Given the description of an element on the screen output the (x, y) to click on. 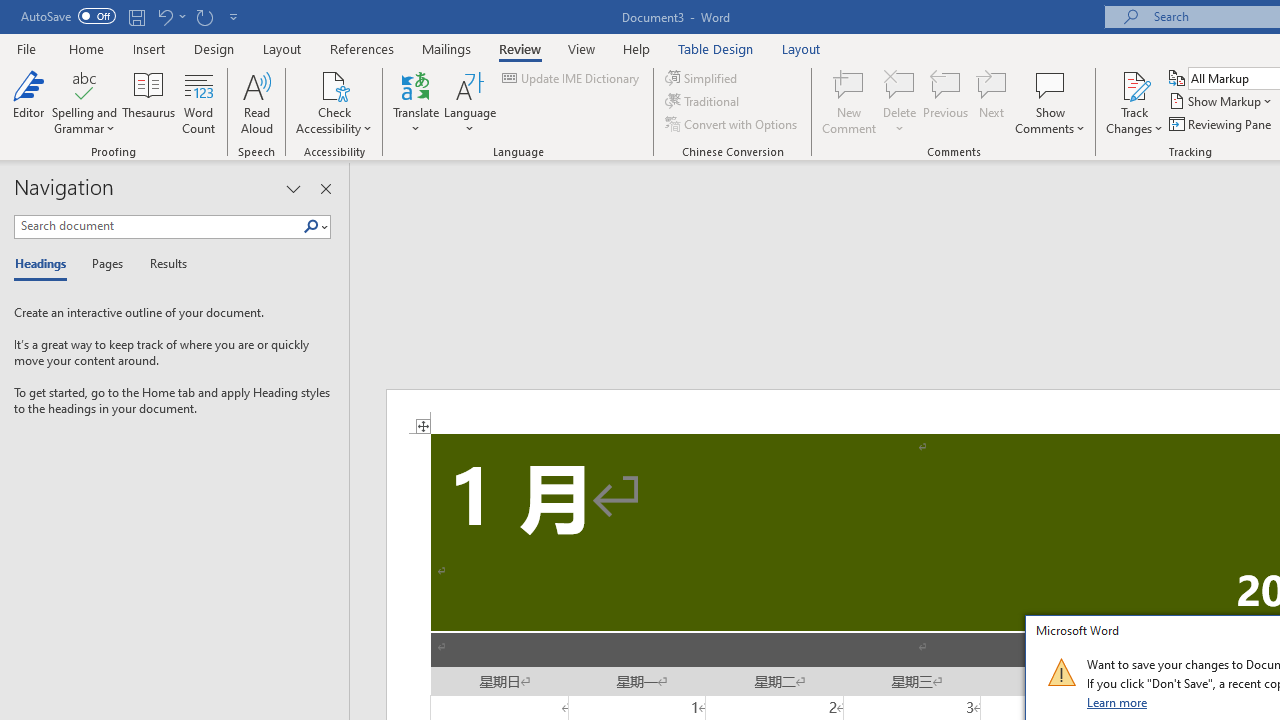
Delete (900, 102)
AutoSave (68, 16)
Spelling and Grammar (84, 102)
Quick Access Toolbar (131, 16)
Read Aloud (256, 102)
Insert (149, 48)
Delete (900, 84)
Search document (157, 226)
Track Changes (1134, 102)
View (582, 48)
Customize Quick Access Toolbar (234, 15)
Spelling and Grammar (84, 84)
Pages (105, 264)
